Given the description of an element on the screen output the (x, y) to click on. 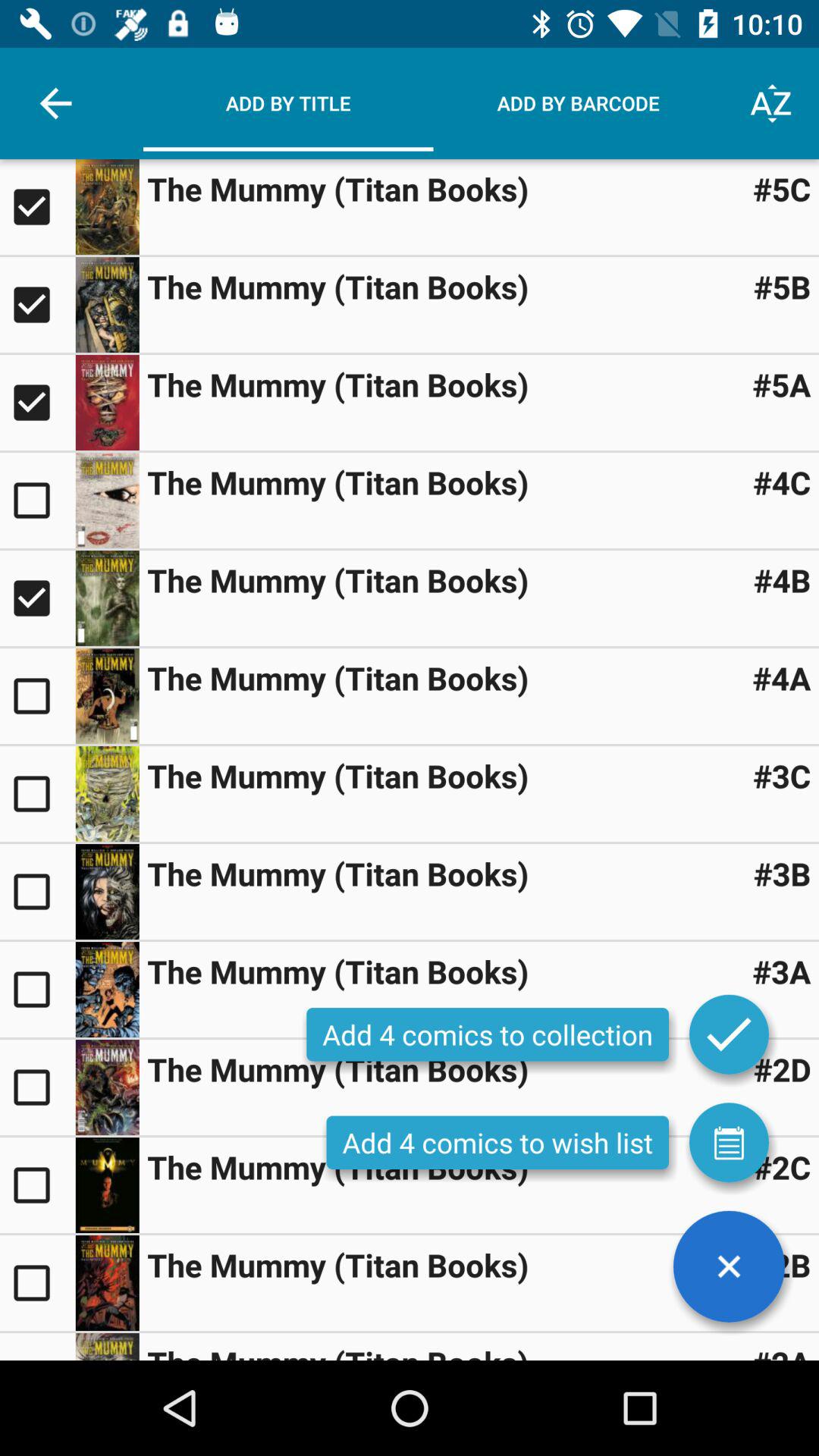
click #5c (782, 188)
